Given the description of an element on the screen output the (x, y) to click on. 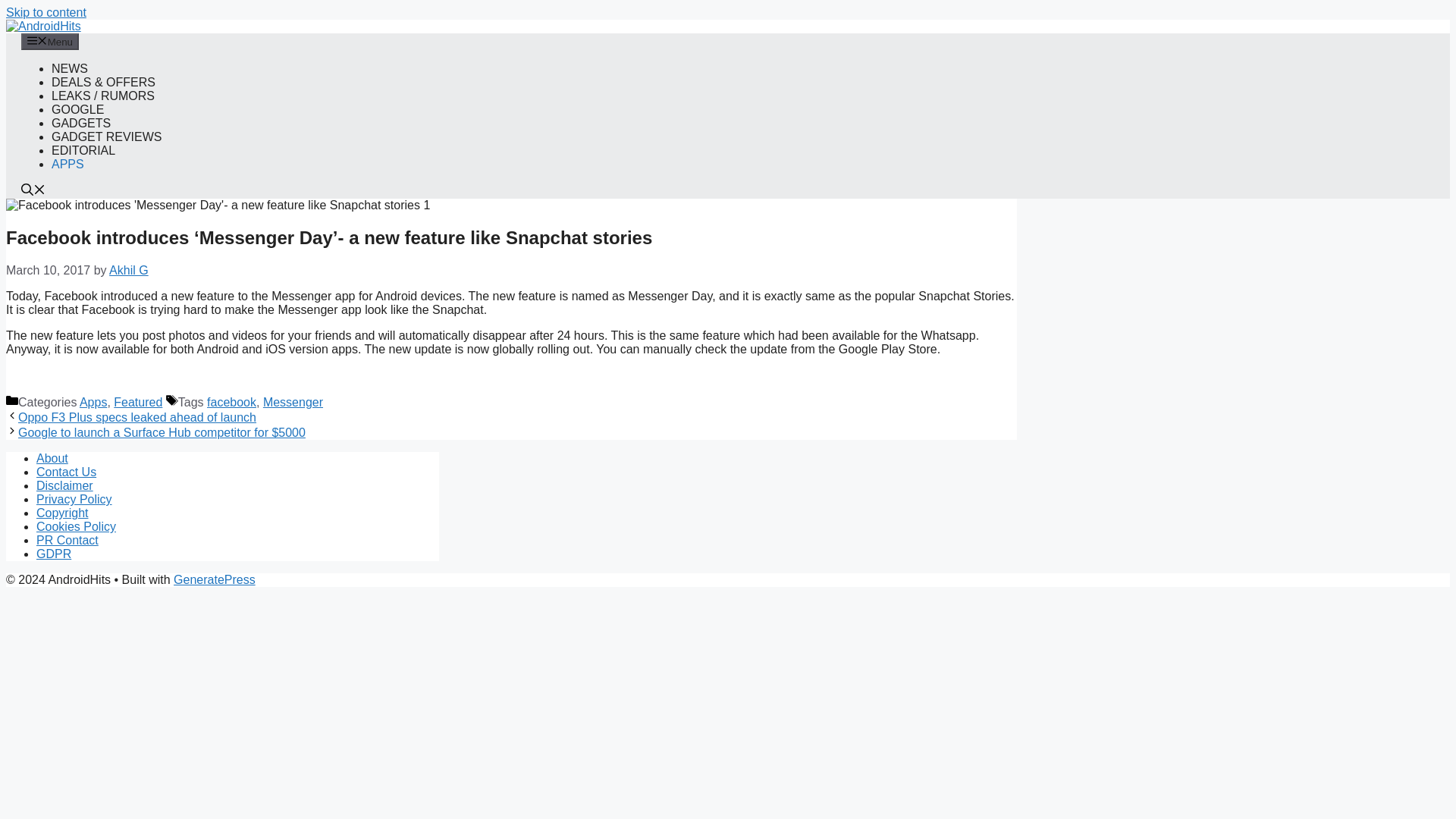
Messenger (293, 401)
facebook (231, 401)
Oppo F3 Plus specs leaked ahead of launch (136, 417)
Skip to content (45, 11)
NEWS (68, 68)
View all posts by Akhil G (128, 269)
Skip to content (45, 11)
Disclaimer (64, 485)
PR Contact (67, 540)
Akhil G (128, 269)
EDITORIAL (82, 150)
GOOGLE (76, 109)
GDPR (53, 553)
GADGETS (80, 123)
